Given the description of an element on the screen output the (x, y) to click on. 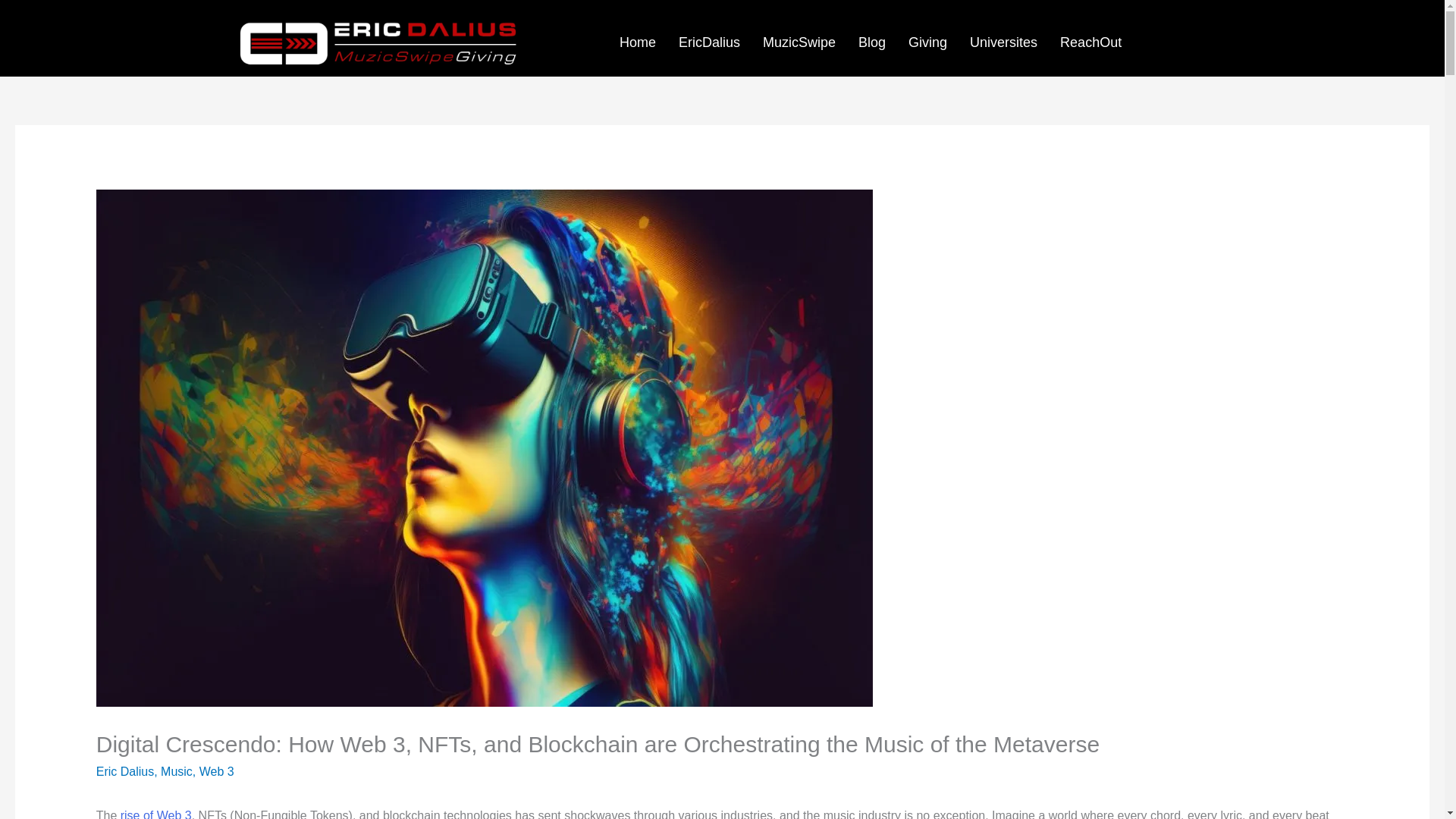
Universites (1003, 42)
MuzicSwipe (799, 42)
Home (637, 42)
Web 3 (216, 771)
Eric Dalius (125, 771)
Music (176, 771)
Giving (927, 42)
Blog (871, 42)
EricDalius (708, 42)
ReachOut (1090, 42)
rise of Web 3 (156, 814)
